Given the description of an element on the screen output the (x, y) to click on. 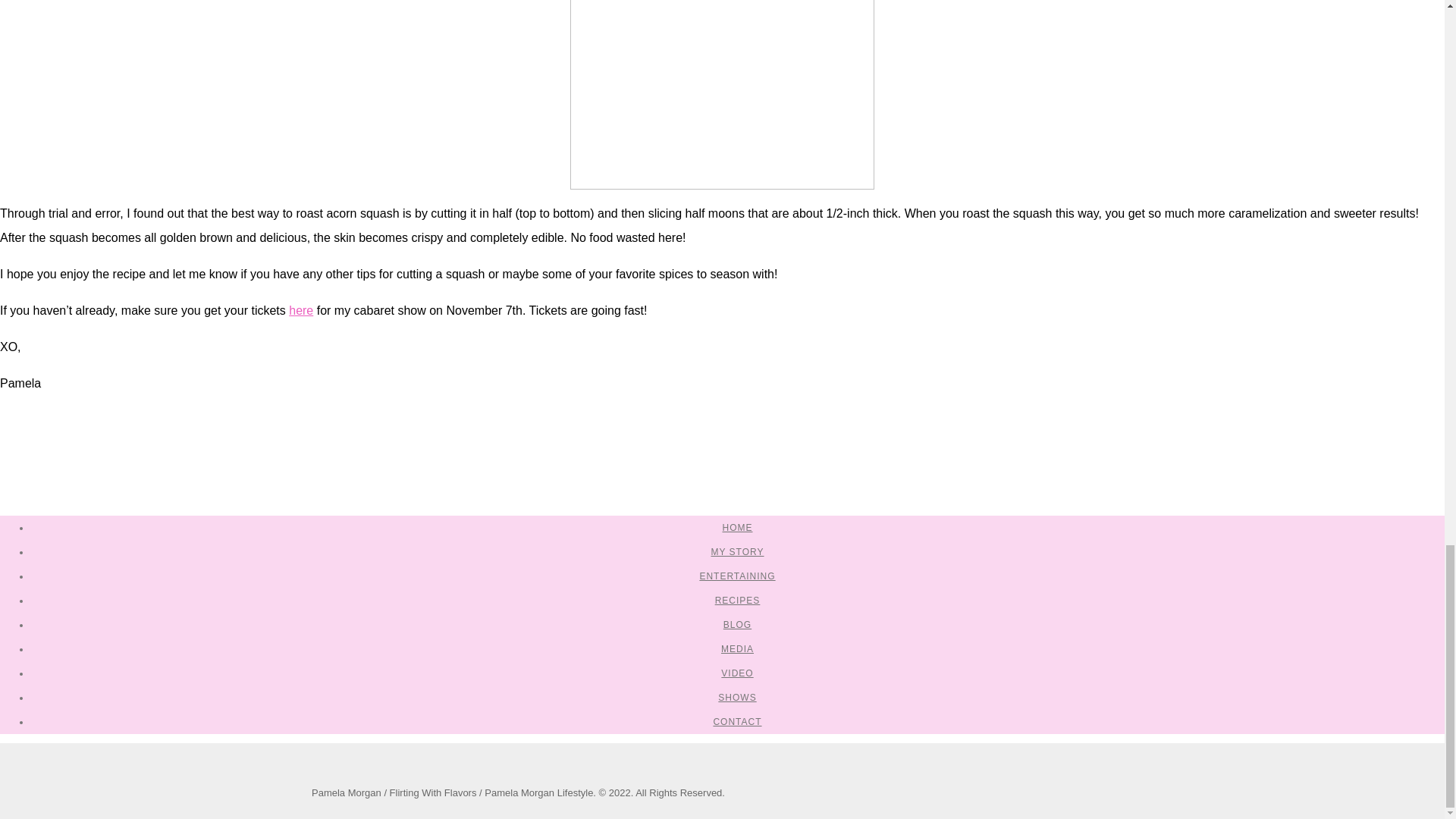
HOME (737, 527)
SHOWS (736, 697)
MY STORY (736, 552)
CONTACT (737, 721)
here (300, 309)
RECIPES (737, 600)
ENTERTAINING (736, 575)
BLOG (737, 624)
MEDIA (737, 648)
VIDEO (736, 673)
